Given the description of an element on the screen output the (x, y) to click on. 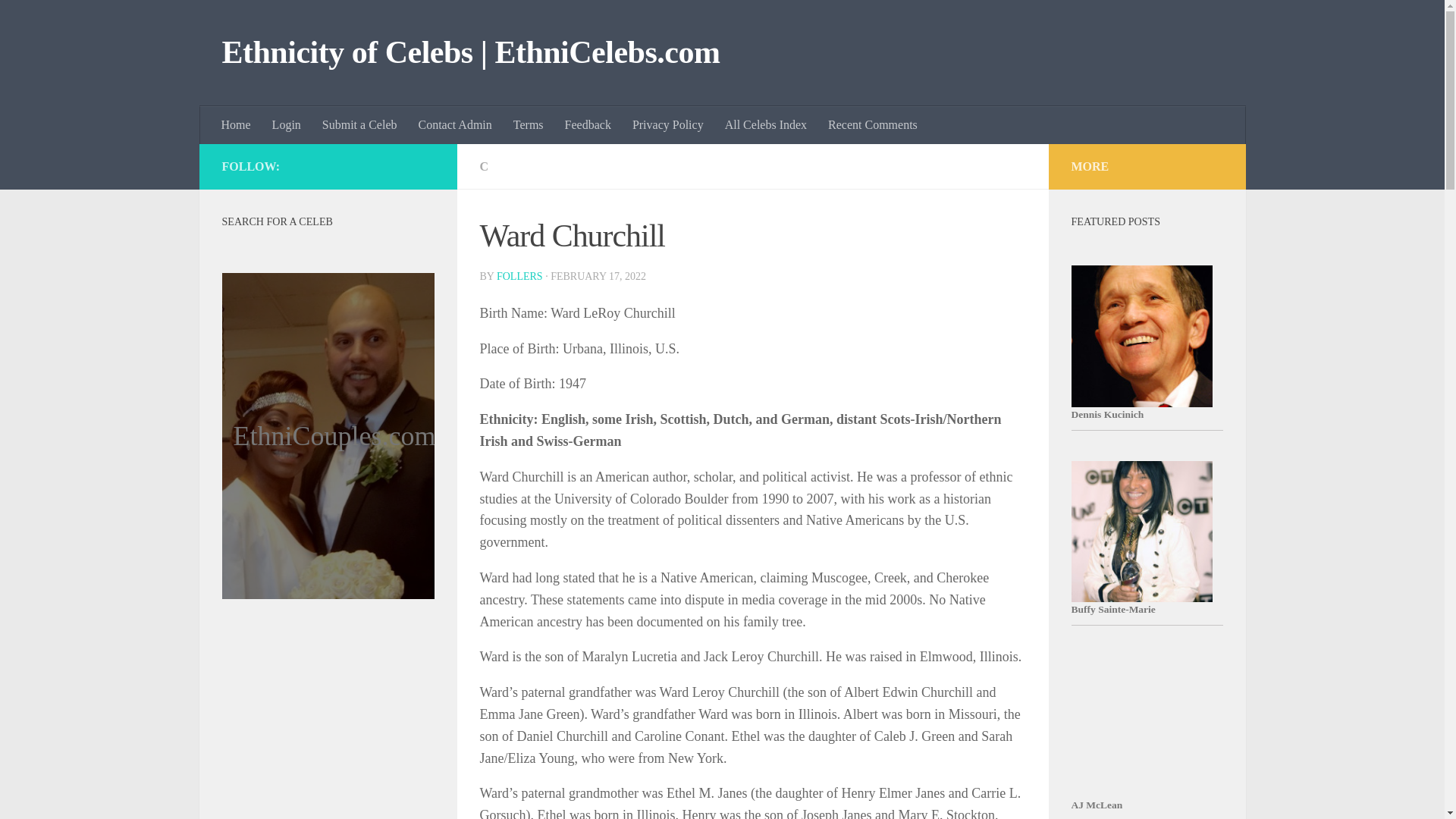
Terms (528, 125)
All Celebs Index (765, 125)
Privacy Policy (667, 125)
Login (286, 125)
Skip to content (59, 20)
Posts by follers (519, 276)
Home (236, 125)
Submit a Celeb (359, 125)
Contact Admin (454, 125)
FOLLERS (519, 276)
